Given the description of an element on the screen output the (x, y) to click on. 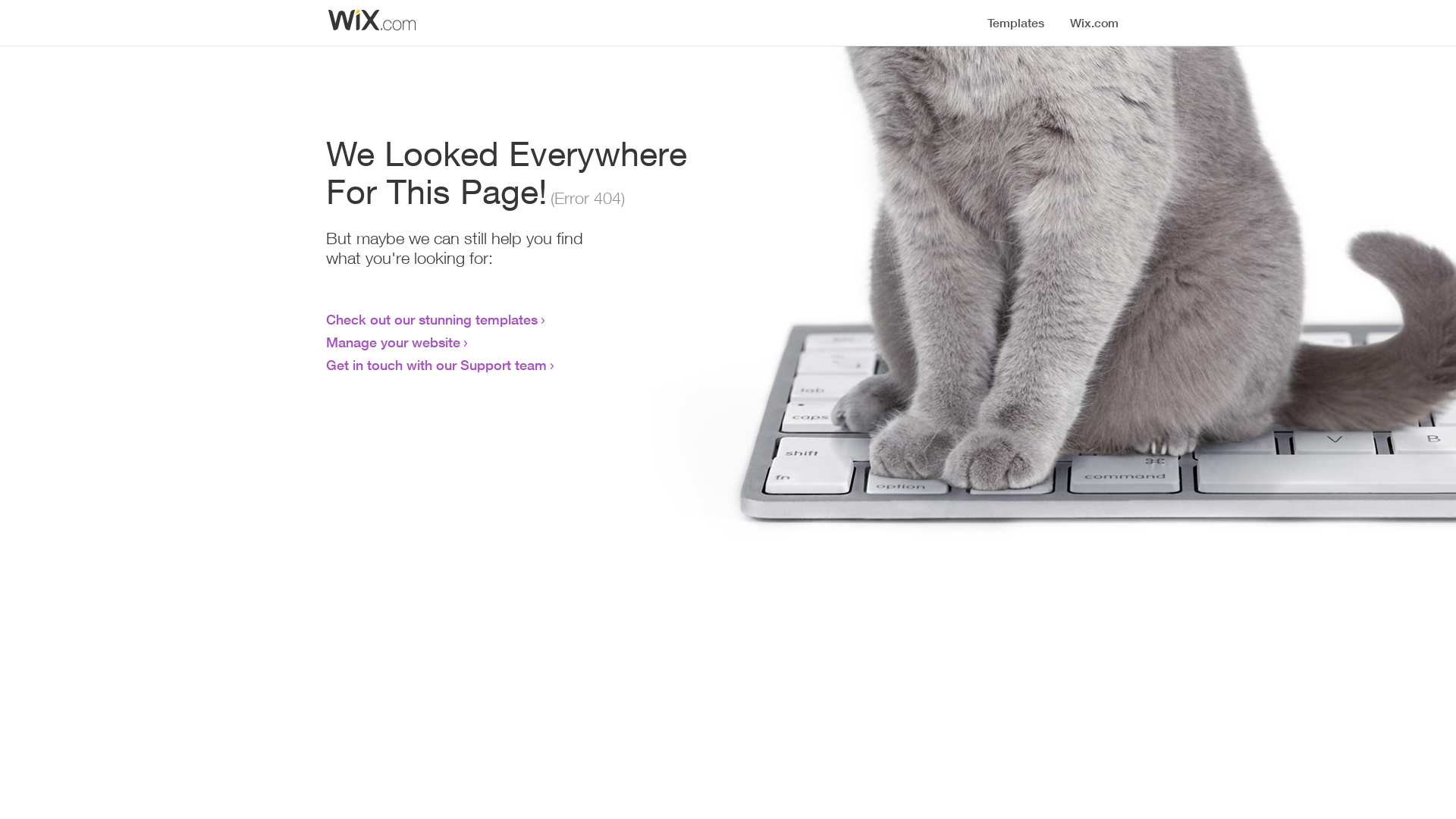
Check out our stunning templates Element type: text (431, 318)
Get in touch with our Support team Element type: text (436, 364)
Manage your website Element type: text (393, 341)
